Given the description of an element on the screen output the (x, y) to click on. 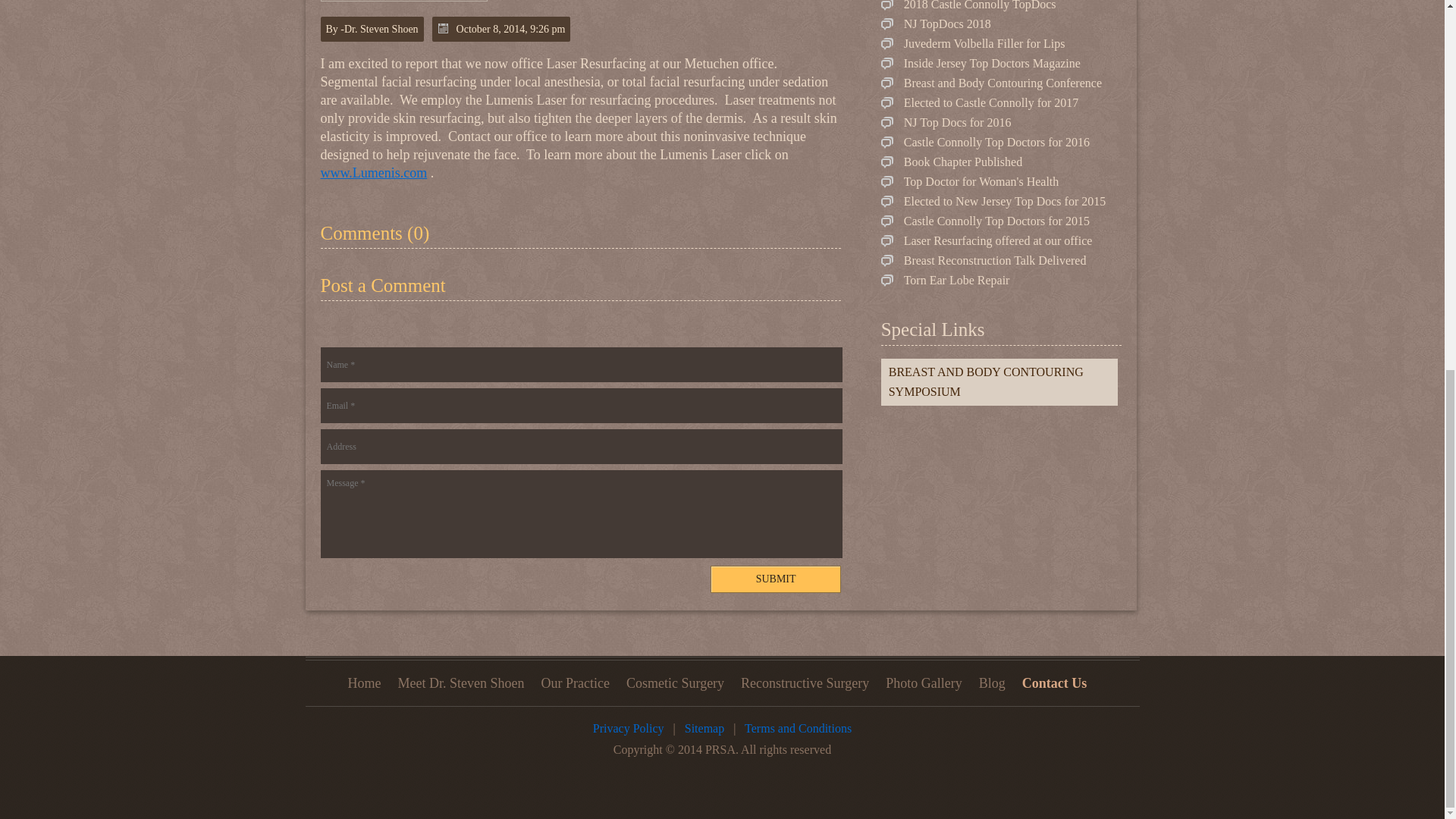
Inside Jersey Top Doctors Magazine (980, 62)
www.Lumenis.com (373, 172)
2018 Castle Connolly TopDocs (968, 5)
Breast and Body Contouring Conference (991, 82)
NJ TopDocs 2018 (935, 23)
Juvederm Volbella Filler for Lips (972, 42)
Elected to Castle Connolly for 2017 (979, 102)
Submit (775, 578)
Lumenis Laser (373, 172)
